Given the description of an element on the screen output the (x, y) to click on. 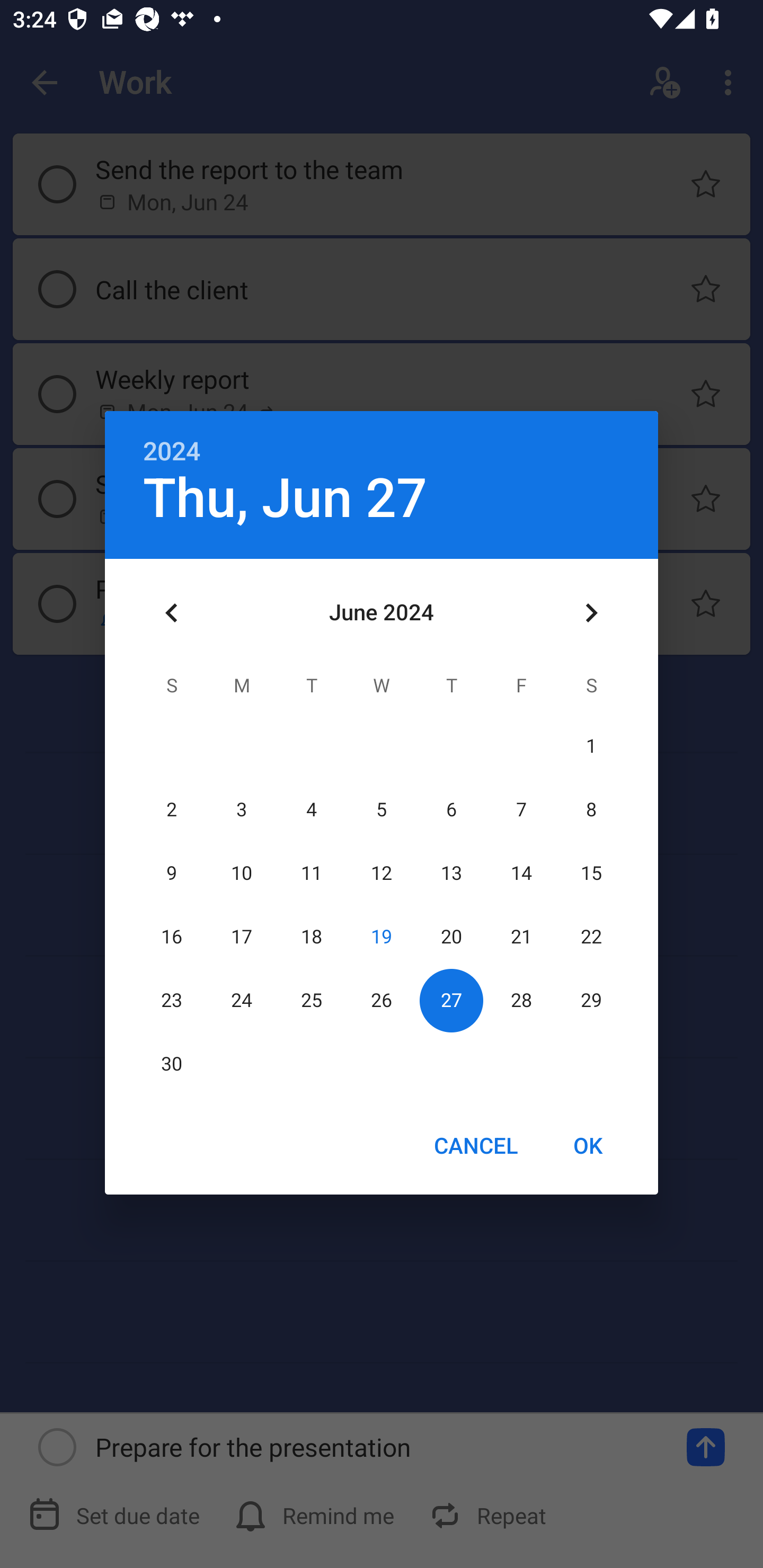
OK (588, 1145)
